Given the description of an element on the screen output the (x, y) to click on. 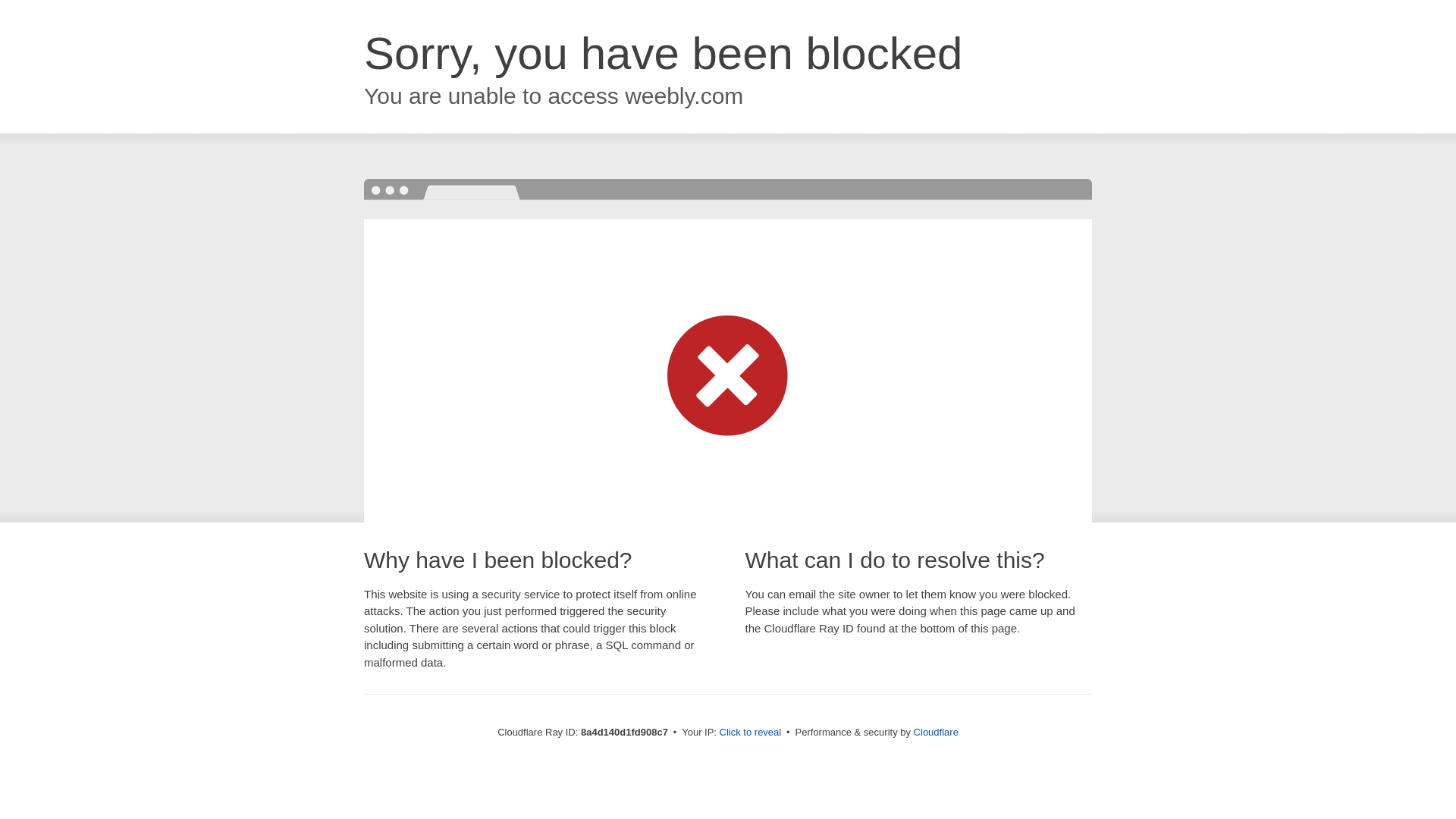
Click to reveal (750, 732)
Cloudflare (936, 731)
